Given the description of an element on the screen output the (x, y) to click on. 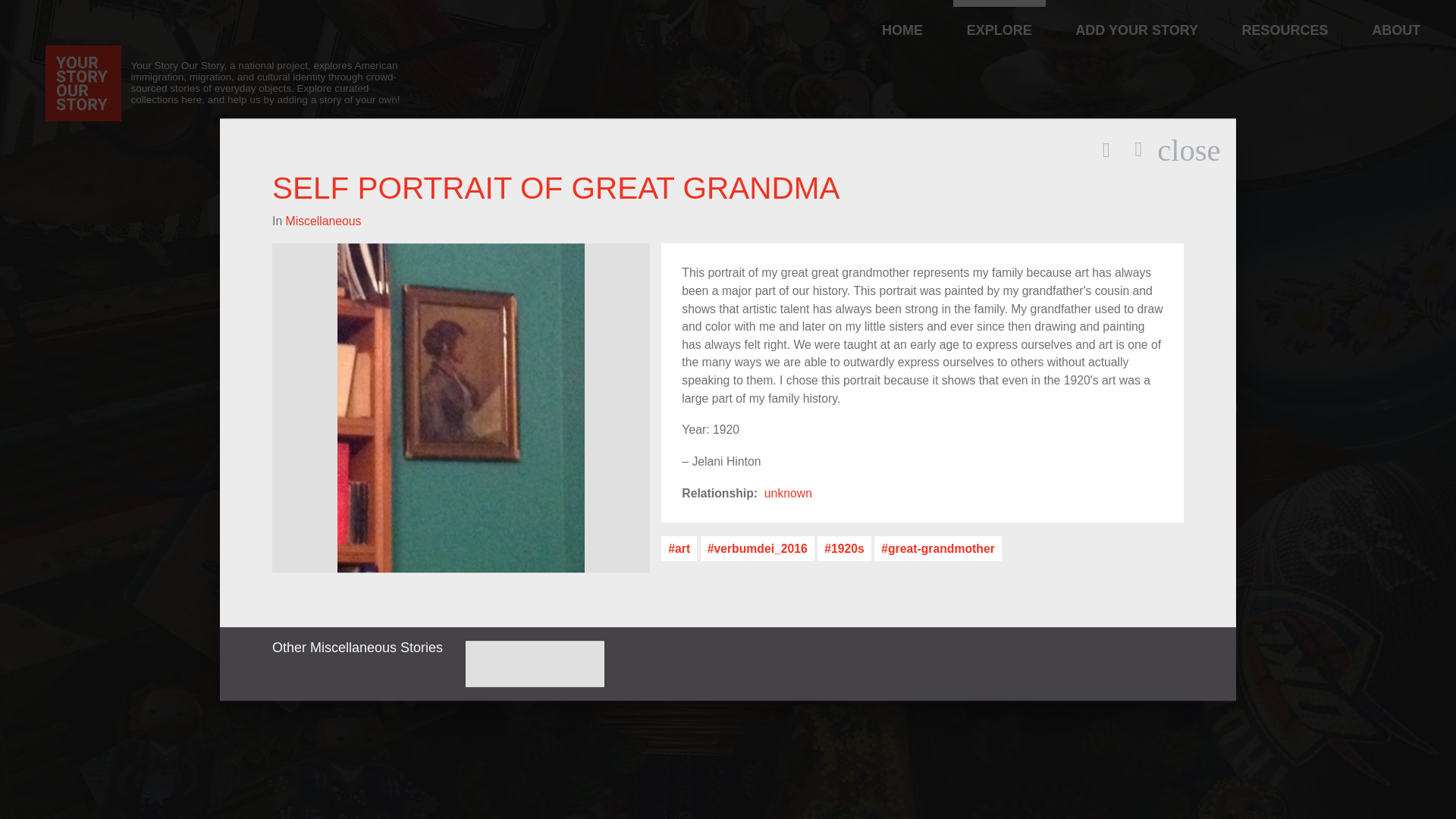
EXPLORE (999, 20)
1920s (788, 566)
ABOUT (843, 560)
art (1396, 20)
Miscellaneous (679, 588)
RESOURCES (323, 349)
ADD YOUR STORY (1285, 20)
HOME (1136, 20)
great-grandmother (901, 20)
